Given the description of an element on the screen output the (x, y) to click on. 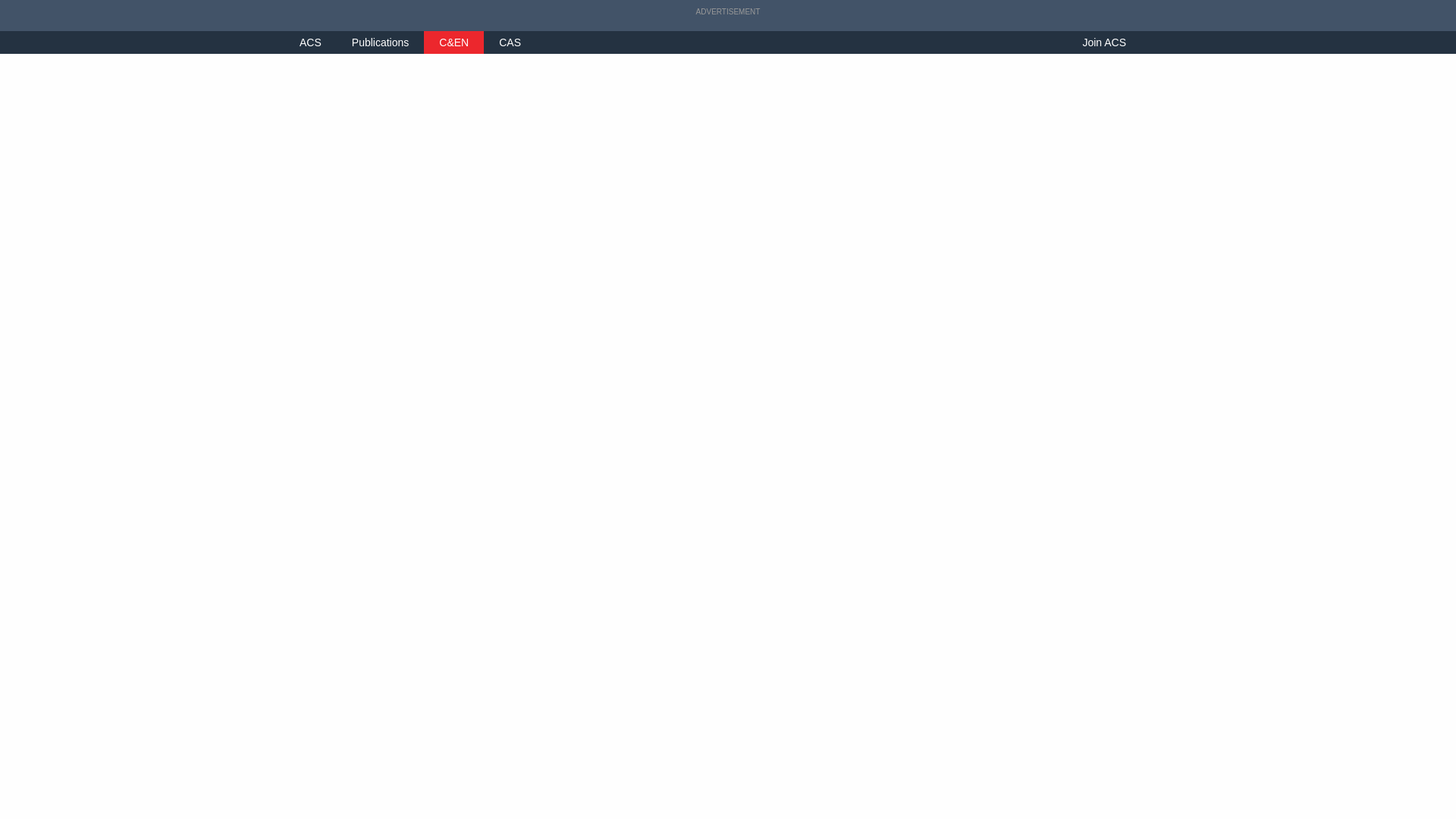
Publications (380, 42)
ACS (310, 42)
Join ACS (1103, 42)
CAS (510, 42)
